Given the description of an element on the screen output the (x, y) to click on. 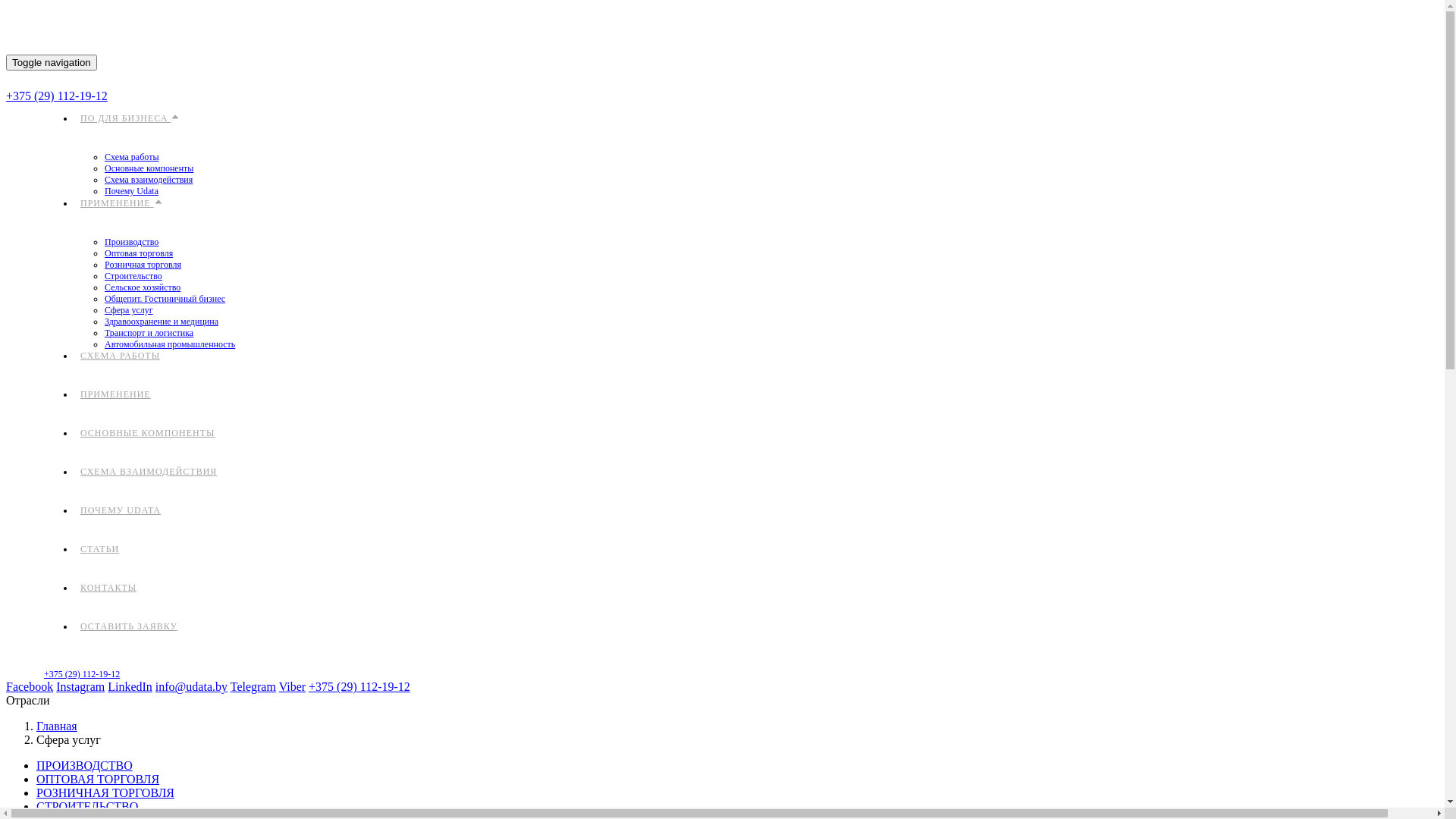
+375 (29) 112-19-12 Element type: text (359, 686)
Telegram Element type: text (253, 686)
Viber Element type: text (292, 686)
Toggle navigation Element type: text (51, 62)
Instagram Element type: text (80, 686)
+375 (29) 112-19-12 Element type: text (81, 673)
LinkedIn Element type: text (129, 686)
info@udata.by Element type: text (191, 686)
Facebook Element type: text (29, 686)
+375 (29) 112-19-12 Element type: text (56, 95)
